Given the description of an element on the screen output the (x, y) to click on. 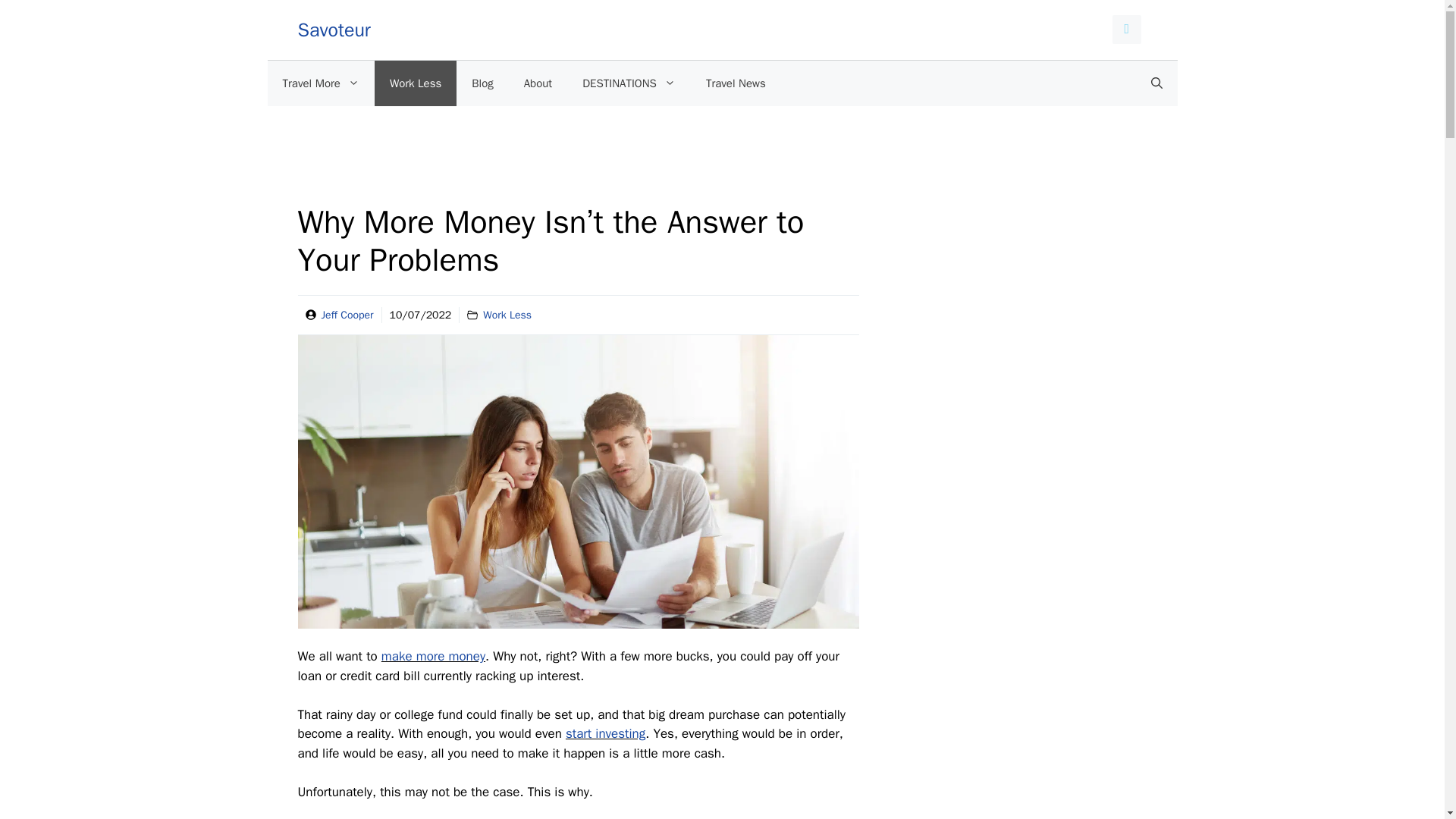
Savoteur (333, 29)
